Given the description of an element on the screen output the (x, y) to click on. 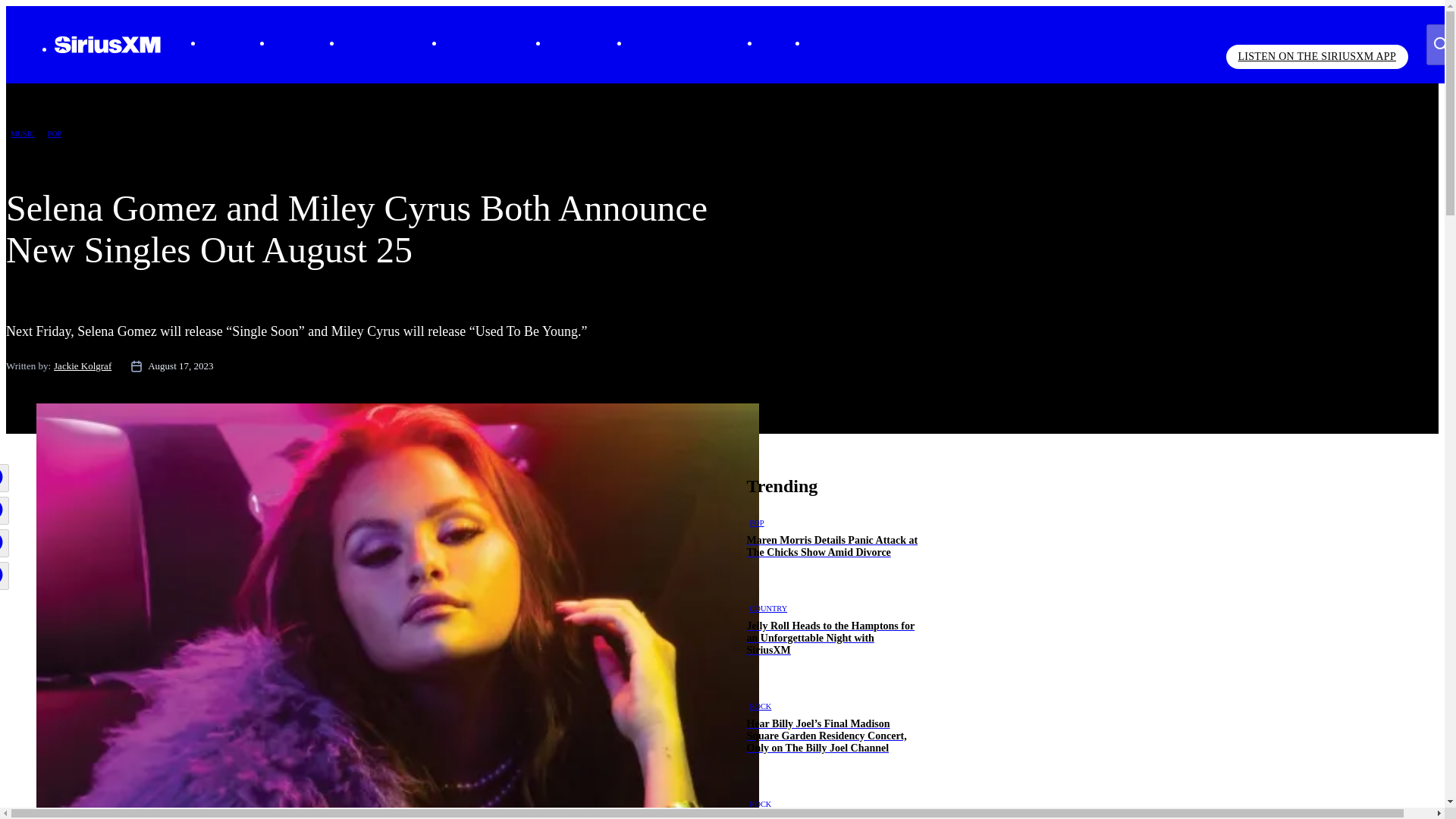
Music (216, 43)
POP (54, 133)
Entertainment (371, 43)
Trending (567, 43)
MUSIC (22, 133)
Sports (285, 43)
Jackie Kolgraf (82, 365)
LISTEN ON THE SIRIUSXM APP (1316, 56)
